Given the description of an element on the screen output the (x, y) to click on. 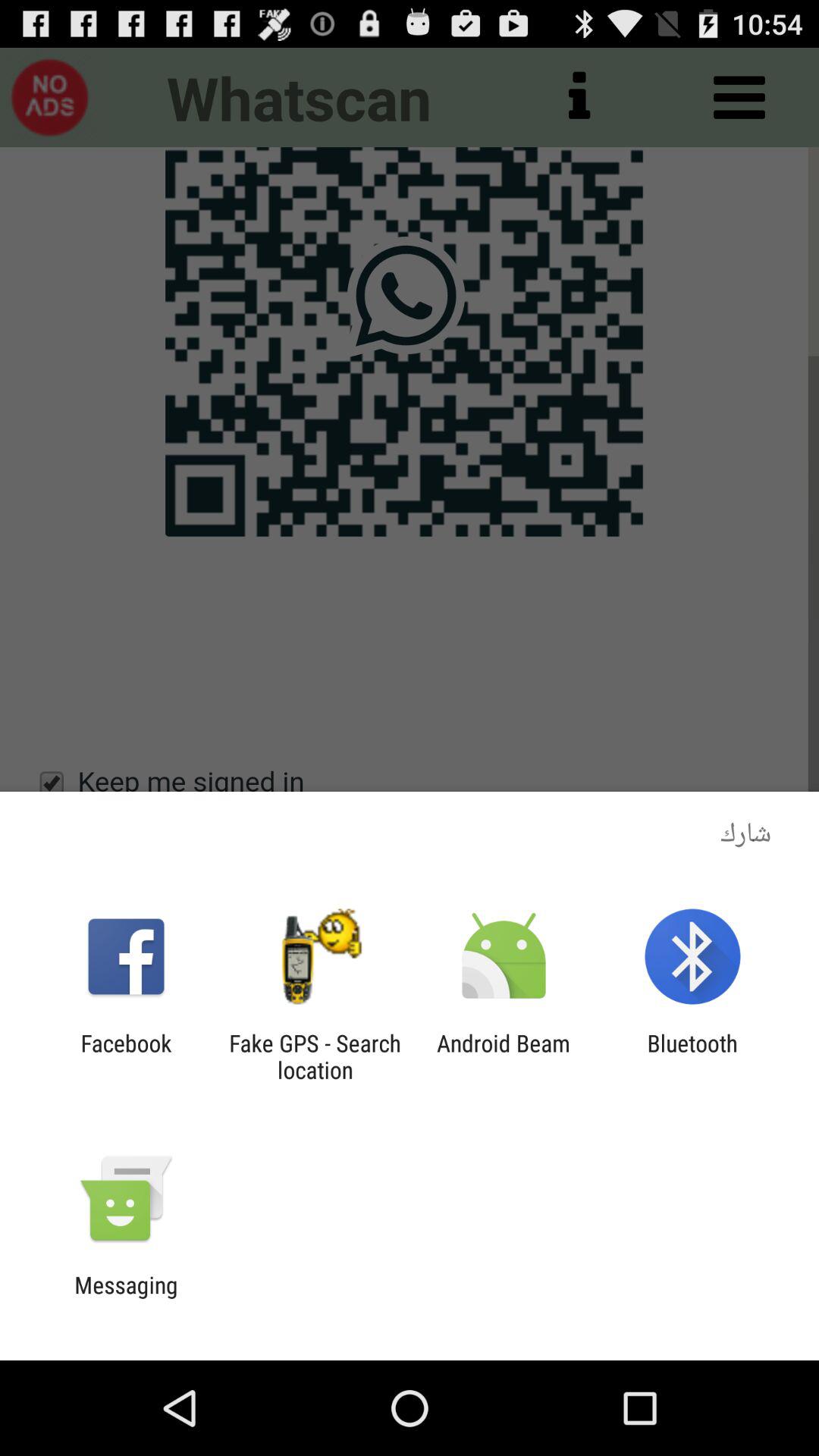
choose messaging icon (126, 1298)
